Given the description of an element on the screen output the (x, y) to click on. 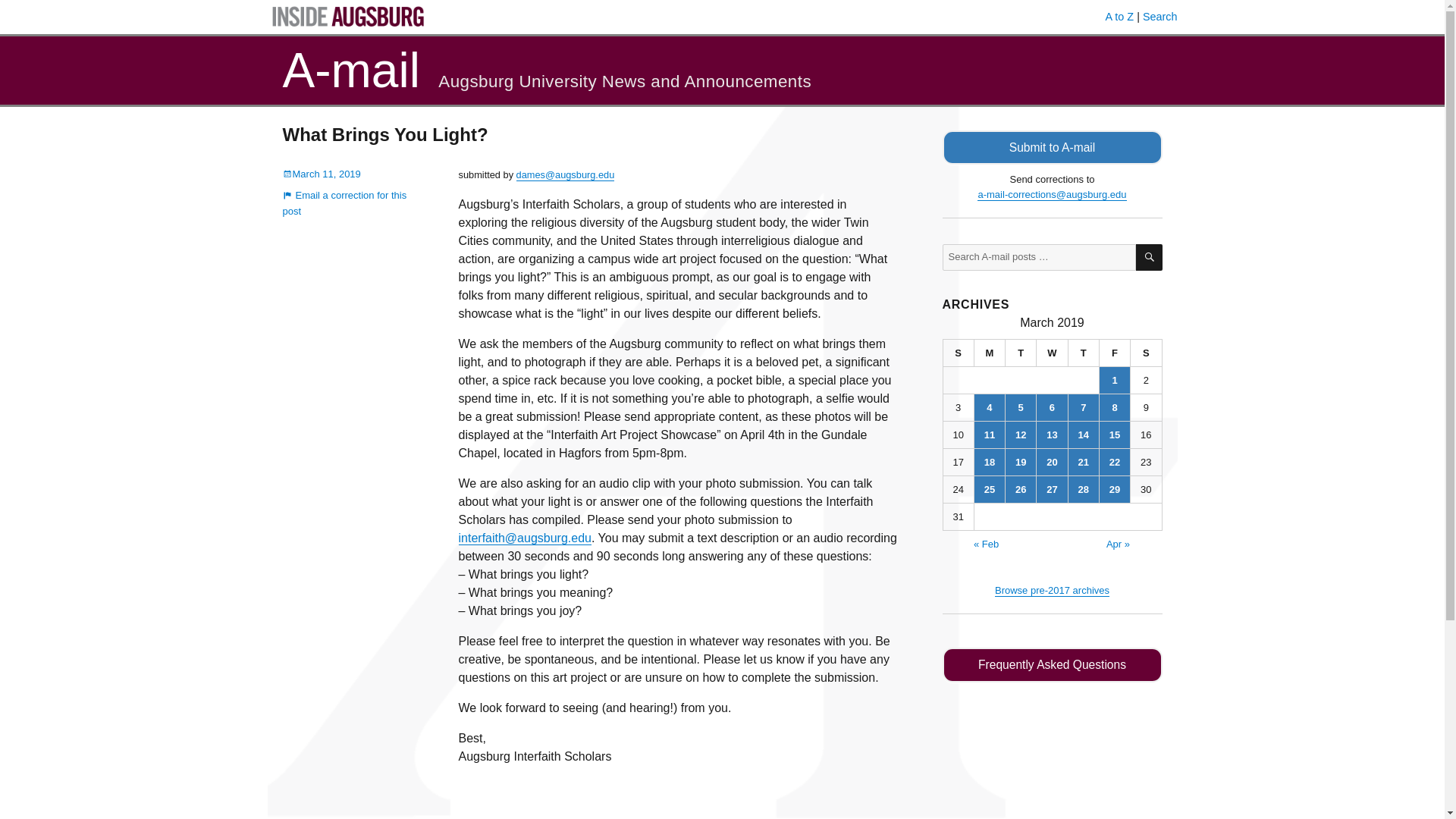
15 (1114, 434)
29 (1114, 488)
14 (1083, 434)
26 (1020, 488)
13 (1051, 434)
5 (1020, 406)
Browse pre-2017 archives (1051, 590)
Monday (990, 352)
Wednesday (1051, 352)
Sunday (958, 352)
